Given the description of an element on the screen output the (x, y) to click on. 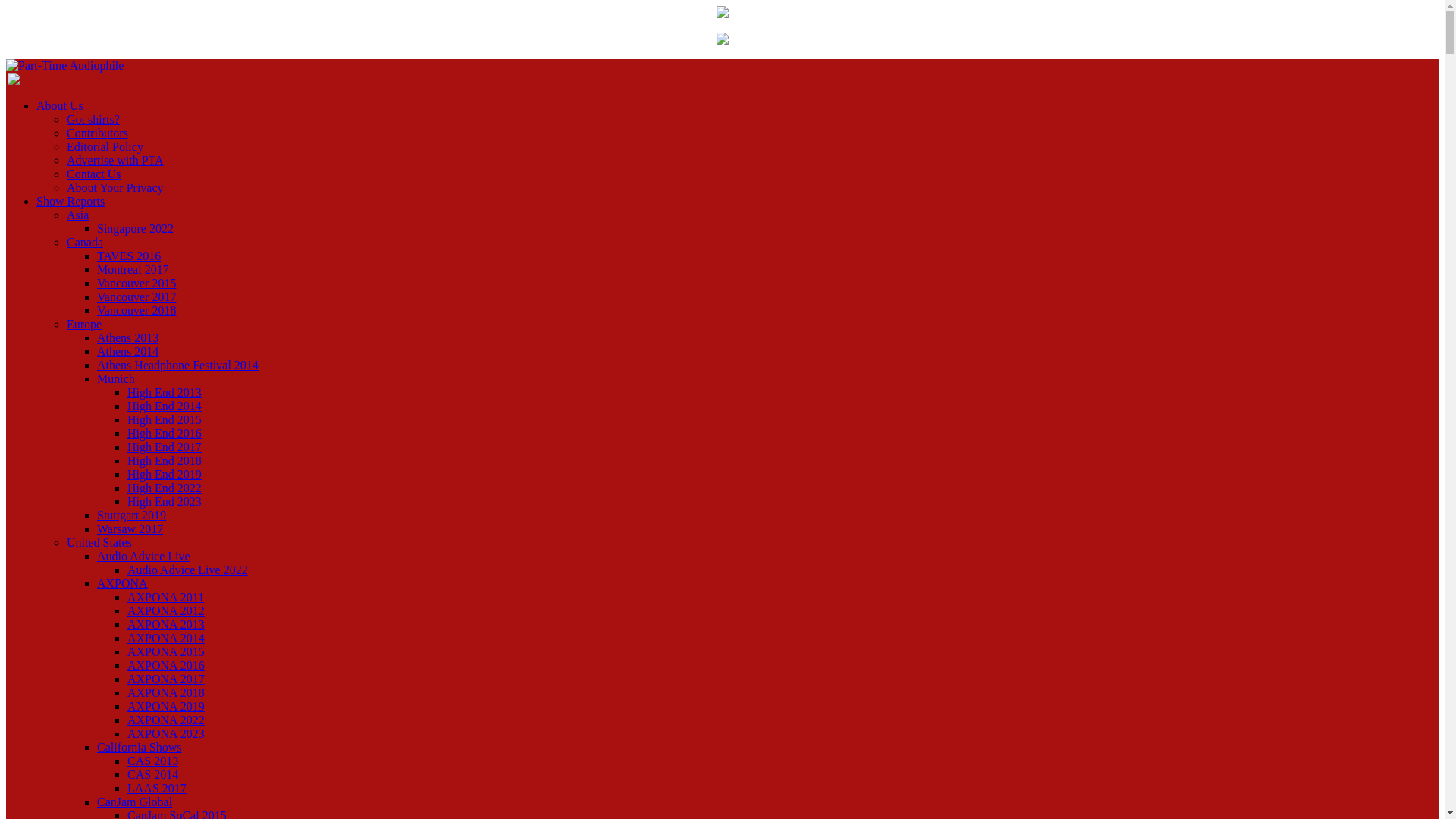
High End 2014 (165, 405)
High End 2019 (165, 473)
United States (99, 542)
Athens Headphone Festival 2014 (178, 364)
Contributors (97, 132)
Asia (77, 214)
TAVES 2016 (128, 255)
High End 2023 (165, 501)
High End 2022 (165, 487)
Montreal 2017 (132, 269)
Canada (84, 241)
Europe (83, 323)
High End 2013 (165, 391)
Vancouver 2017 (136, 296)
Athens 2014 (127, 350)
